Given the description of an element on the screen output the (x, y) to click on. 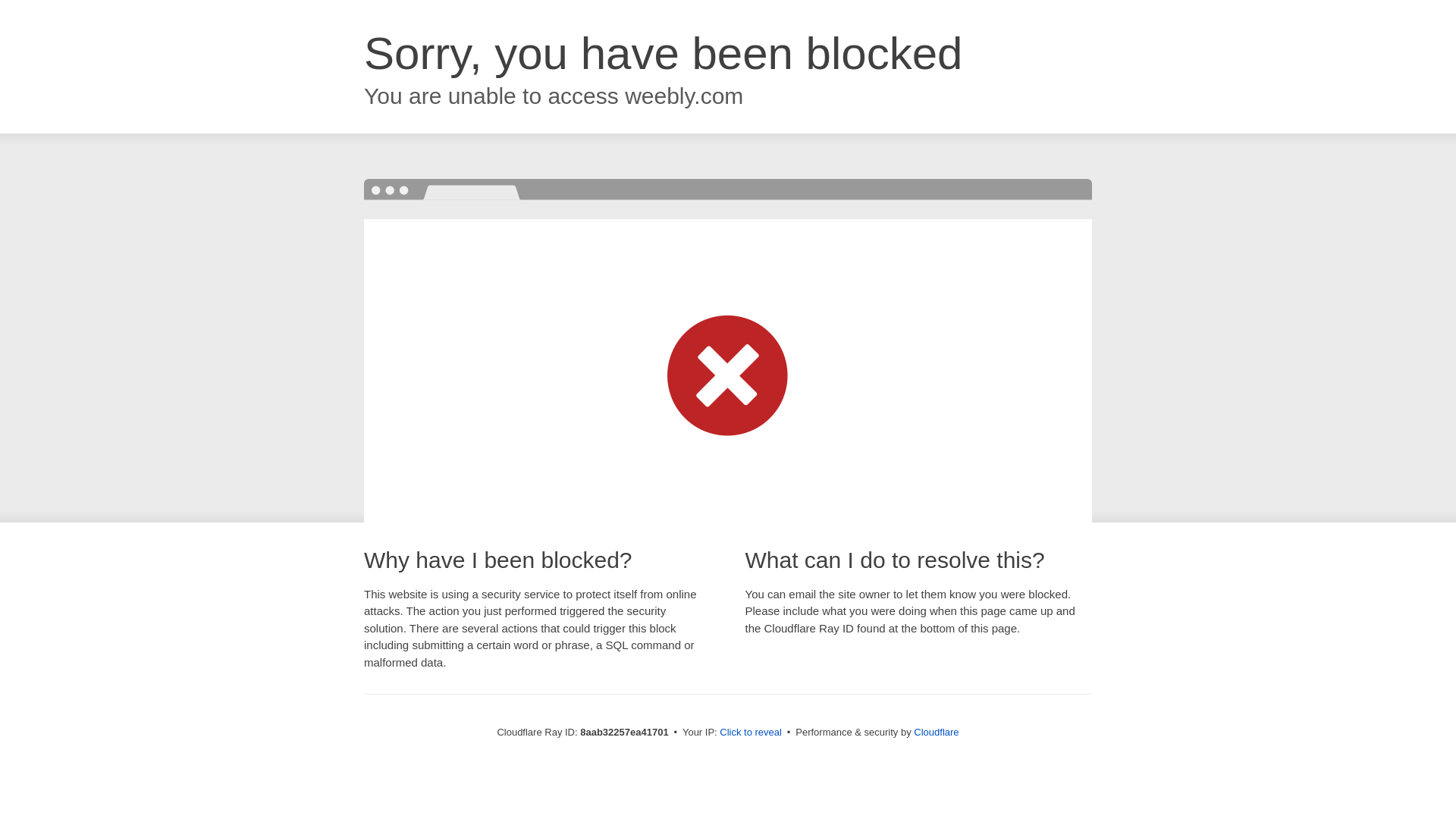
Cloudflare (936, 731)
Click to reveal (750, 732)
